Given the description of an element on the screen output the (x, y) to click on. 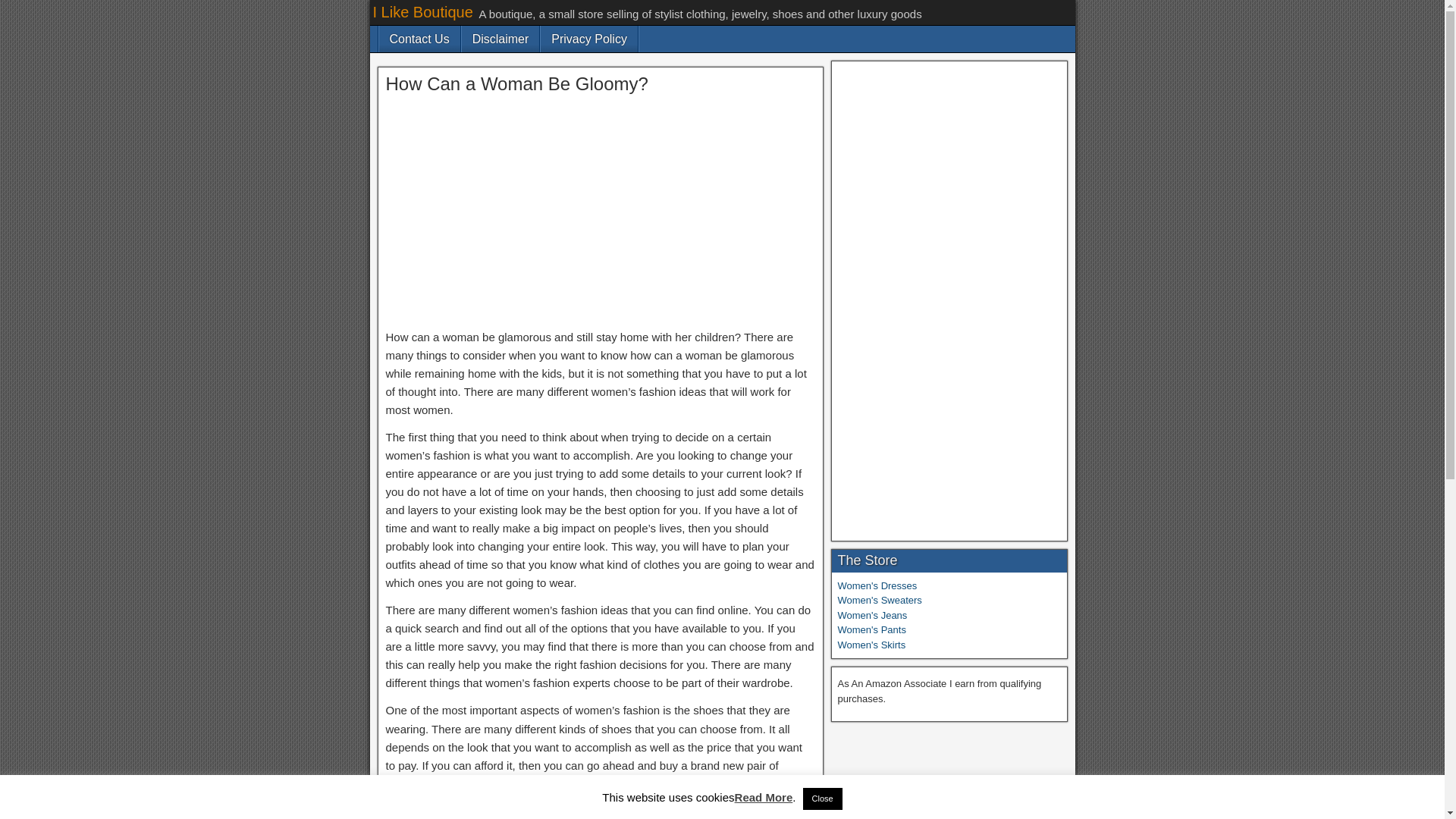
Privacy Policy (588, 38)
Close (823, 798)
Advertisement (599, 215)
Contact Us (419, 38)
Women's Jeans (872, 614)
Women's Dresses (877, 585)
Read More (764, 797)
How Can a Woman Be Gloomy? (516, 83)
Disclaimer (500, 38)
Women's Sweaters (879, 600)
